Given the description of an element on the screen output the (x, y) to click on. 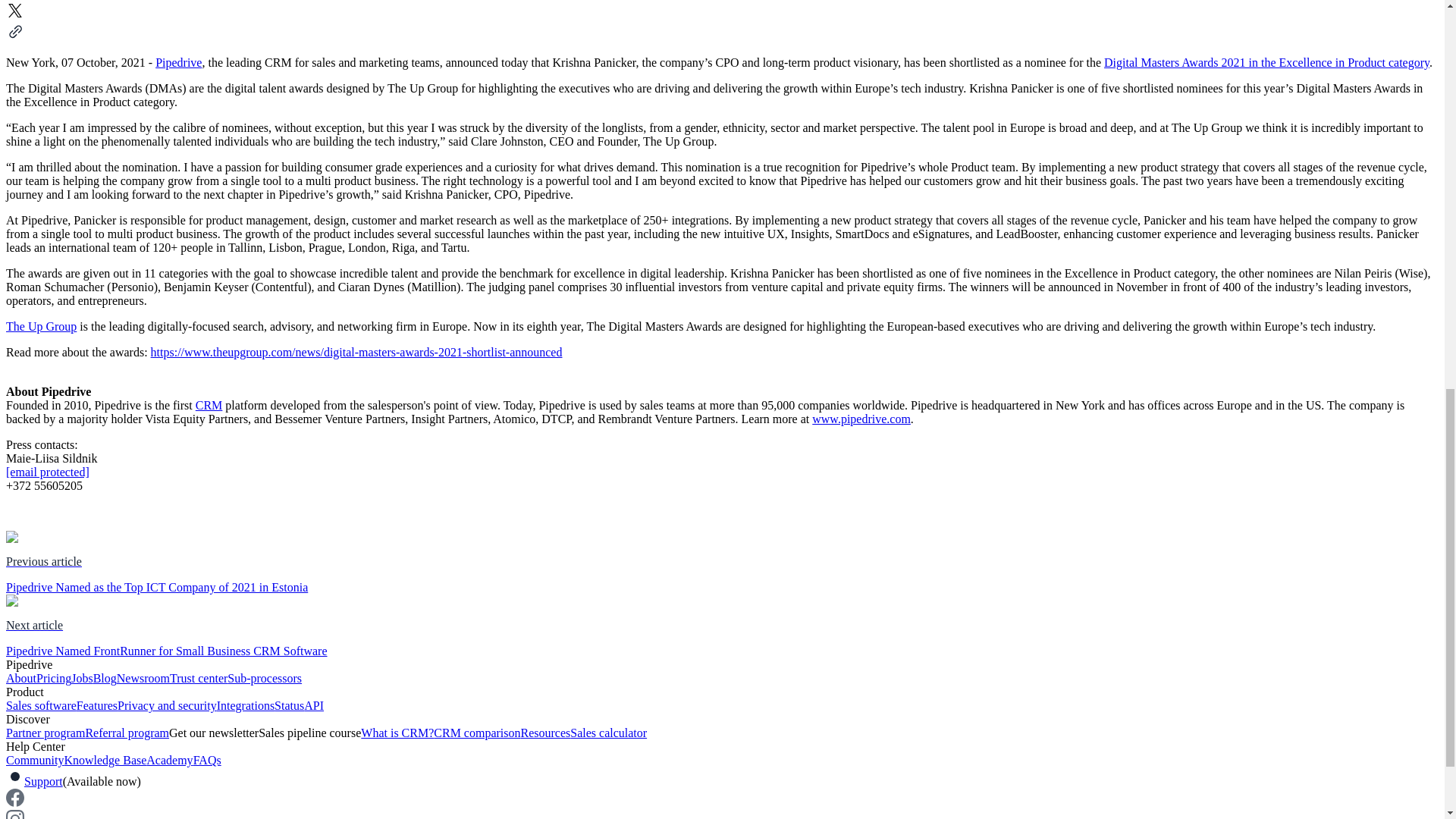
Newsroom (143, 677)
About (20, 677)
The Up Group (41, 326)
Trust center (198, 677)
Features (97, 705)
Blog (104, 677)
Privacy and security (166, 705)
Jobs (82, 677)
CRM (208, 404)
Pricing (53, 677)
www.pipedrive.com (861, 418)
Sub-processors (264, 677)
Sales software (41, 705)
Pipedrive (178, 62)
